Given the description of an element on the screen output the (x, y) to click on. 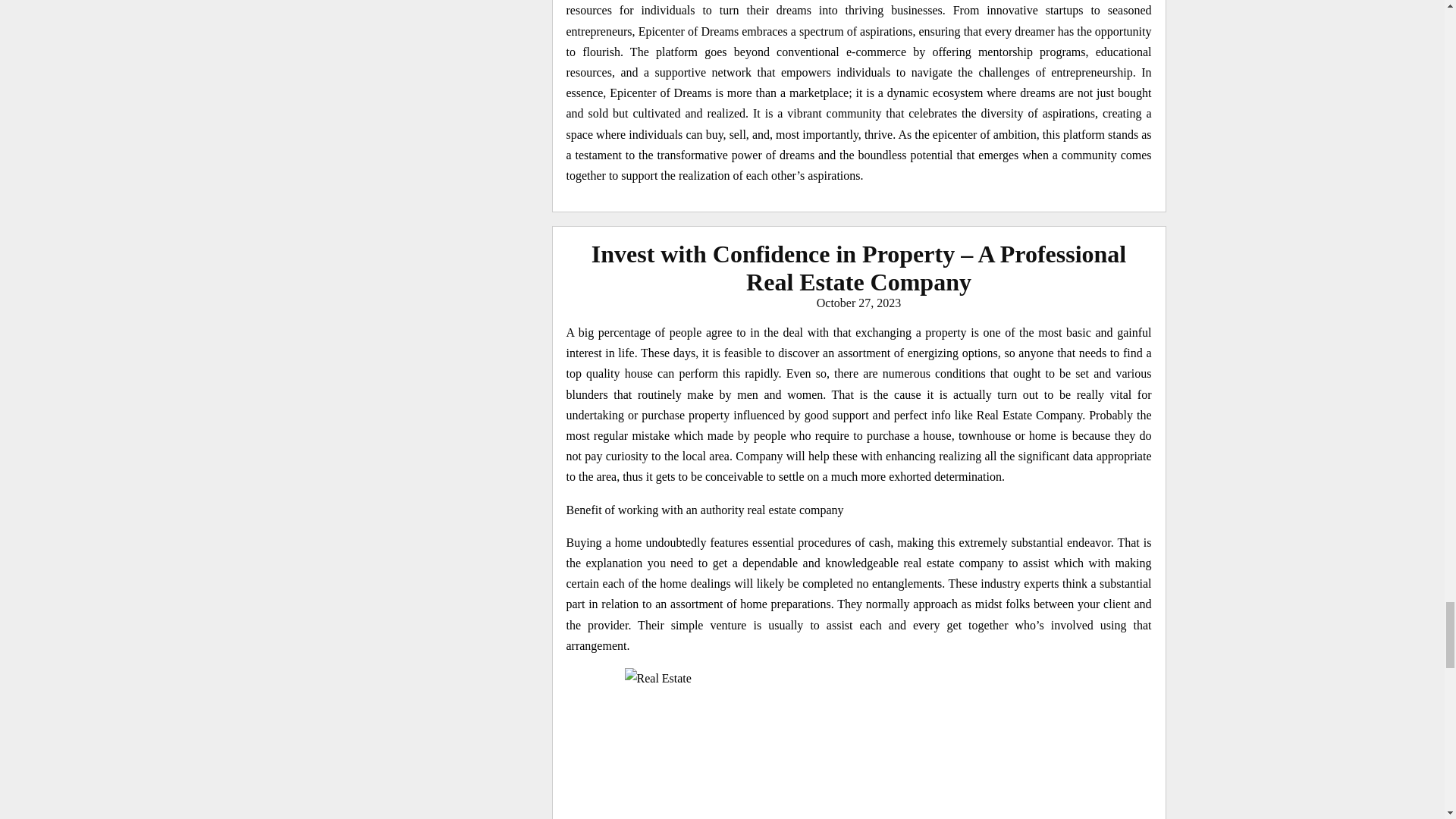
October 27, 2023 (858, 302)
